Given the description of an element on the screen output the (x, y) to click on. 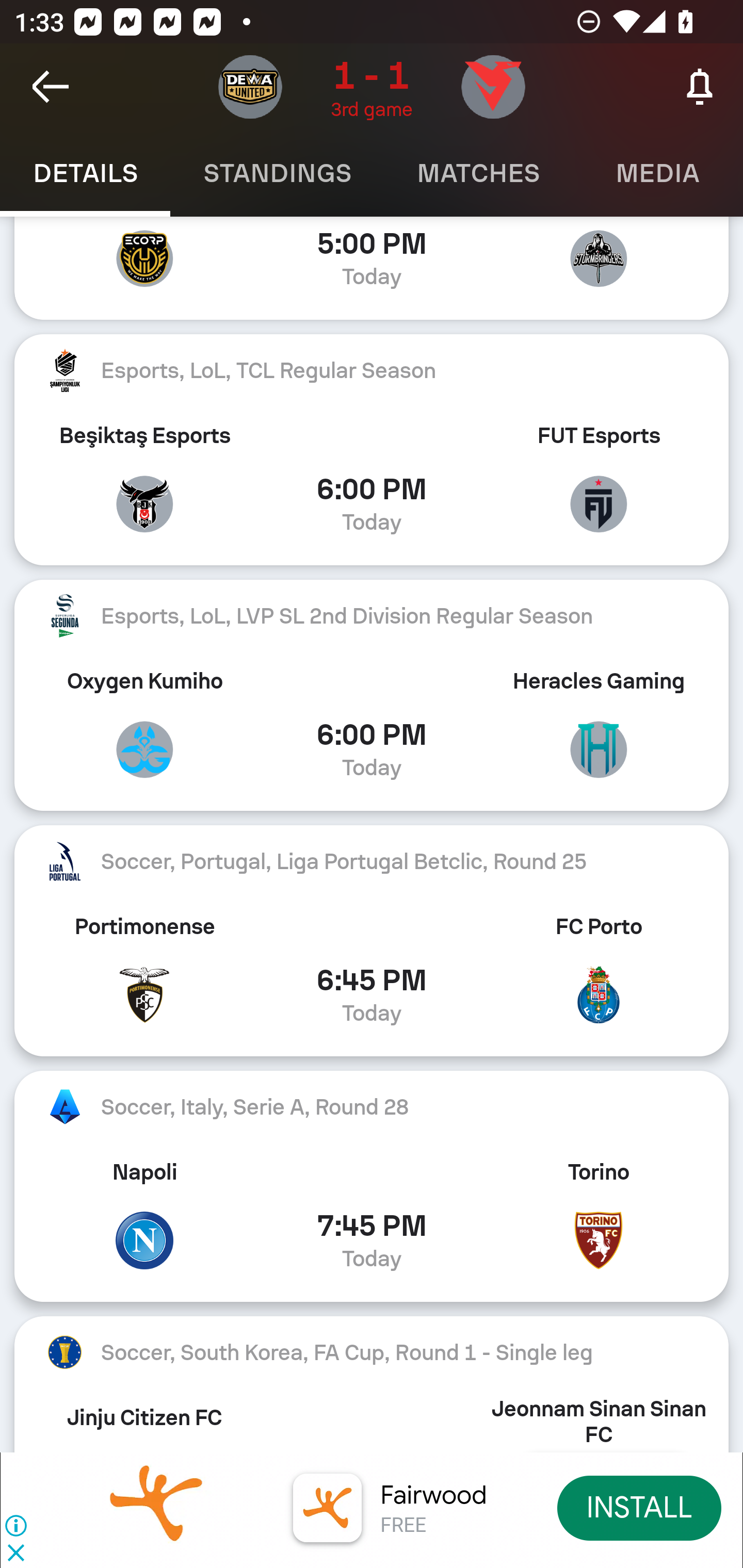
Navigate up (50, 86)
Standings STANDINGS (277, 173)
Matches MATCHES (478, 173)
Media MEDIA (657, 173)
5:00 PM Today (371, 267)
Esports, LoL, TCL Regular Season (371, 369)
Esports, LoL, LVP SL 2nd Division Regular Season (371, 616)
Soccer, Portugal, Liga Portugal Betclic, Round 25 (371, 860)
Soccer, Italy, Serie A, Round 28 (371, 1106)
Soccer, South Korea, FA Cup, Round 1 - Single leg (371, 1352)
INSTALL (639, 1507)
Fairwood (433, 1494)
FREE (403, 1525)
